Given the description of an element on the screen output the (x, y) to click on. 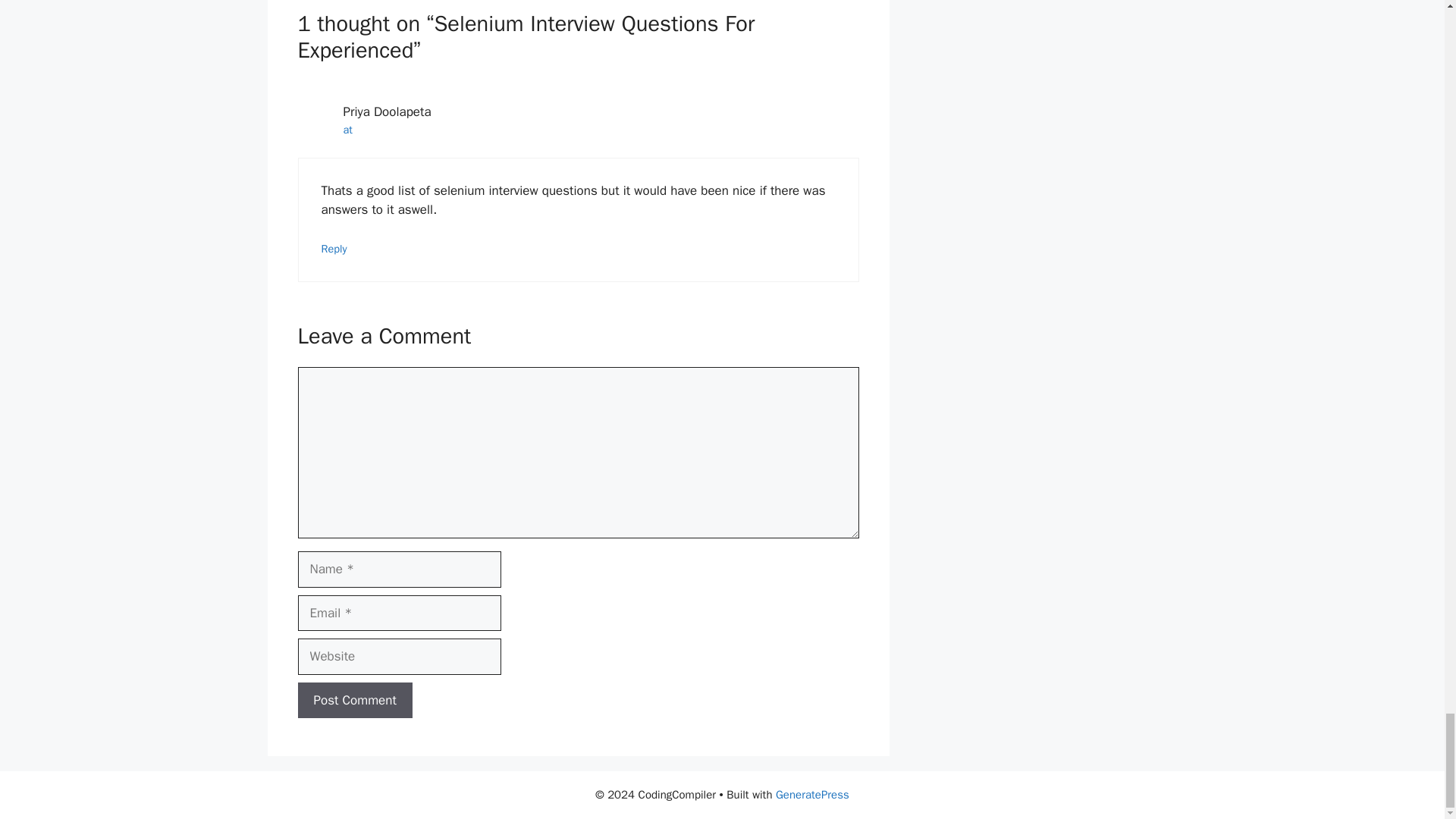
Post Comment (354, 700)
